Given the description of an element on the screen output the (x, y) to click on. 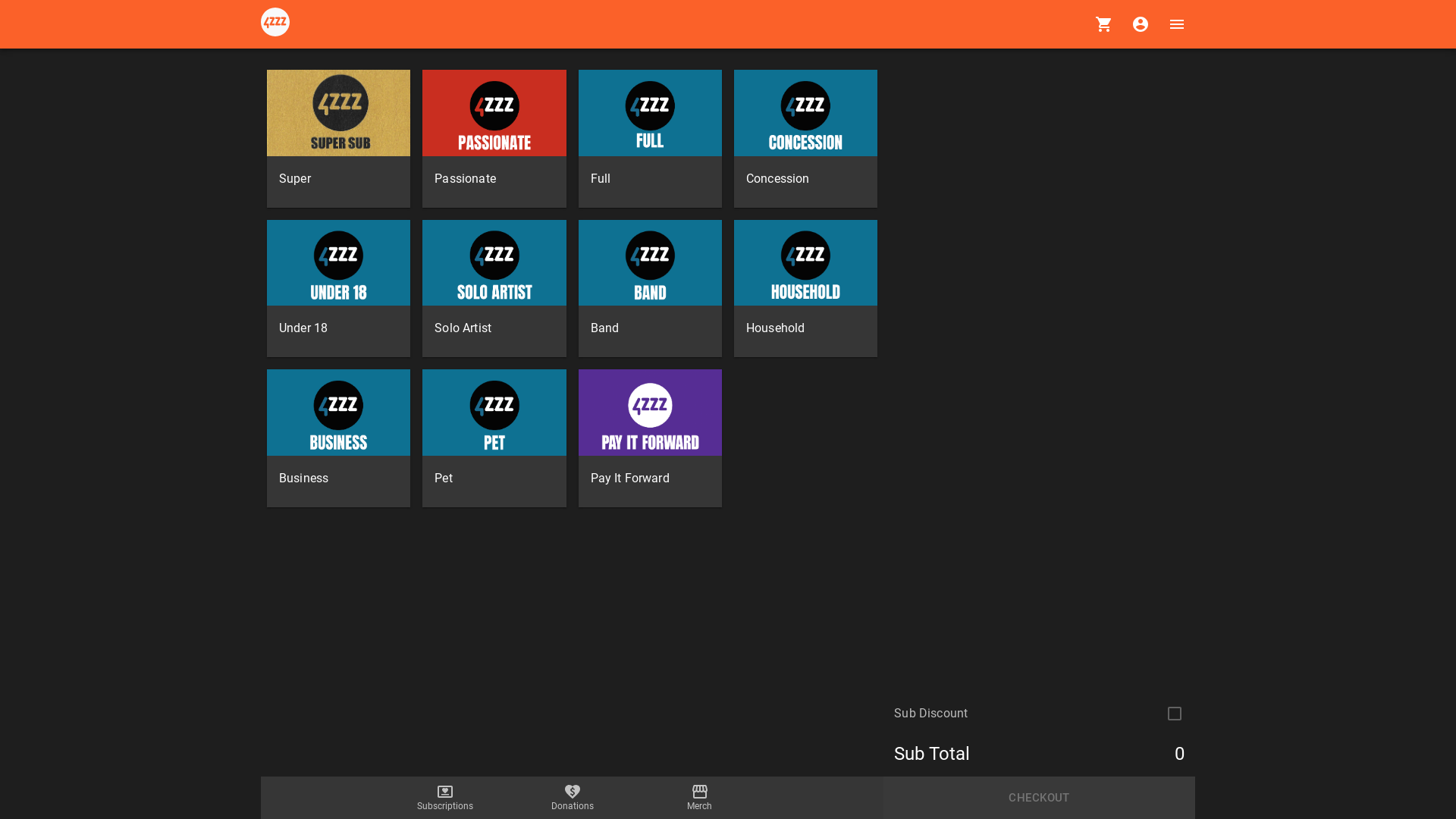
Menu Element type: hover (1176, 24)
Passionate Element type: text (493, 138)
Household Element type: text (805, 288)
Concession Element type: text (805, 138)
0 Element type: text (1103, 24)
Super Element type: text (338, 138)
Pay It Forward Element type: text (649, 438)
Pet Element type: text (493, 438)
Under 18 Element type: text (338, 288)
Info Element type: hover (278, 23)
Solo Artist Element type: text (493, 288)
Band Element type: text (649, 288)
Full Element type: text (649, 138)
Business Element type: text (338, 438)
Account Element type: hover (1140, 24)
